Given the description of an element on the screen output the (x, y) to click on. 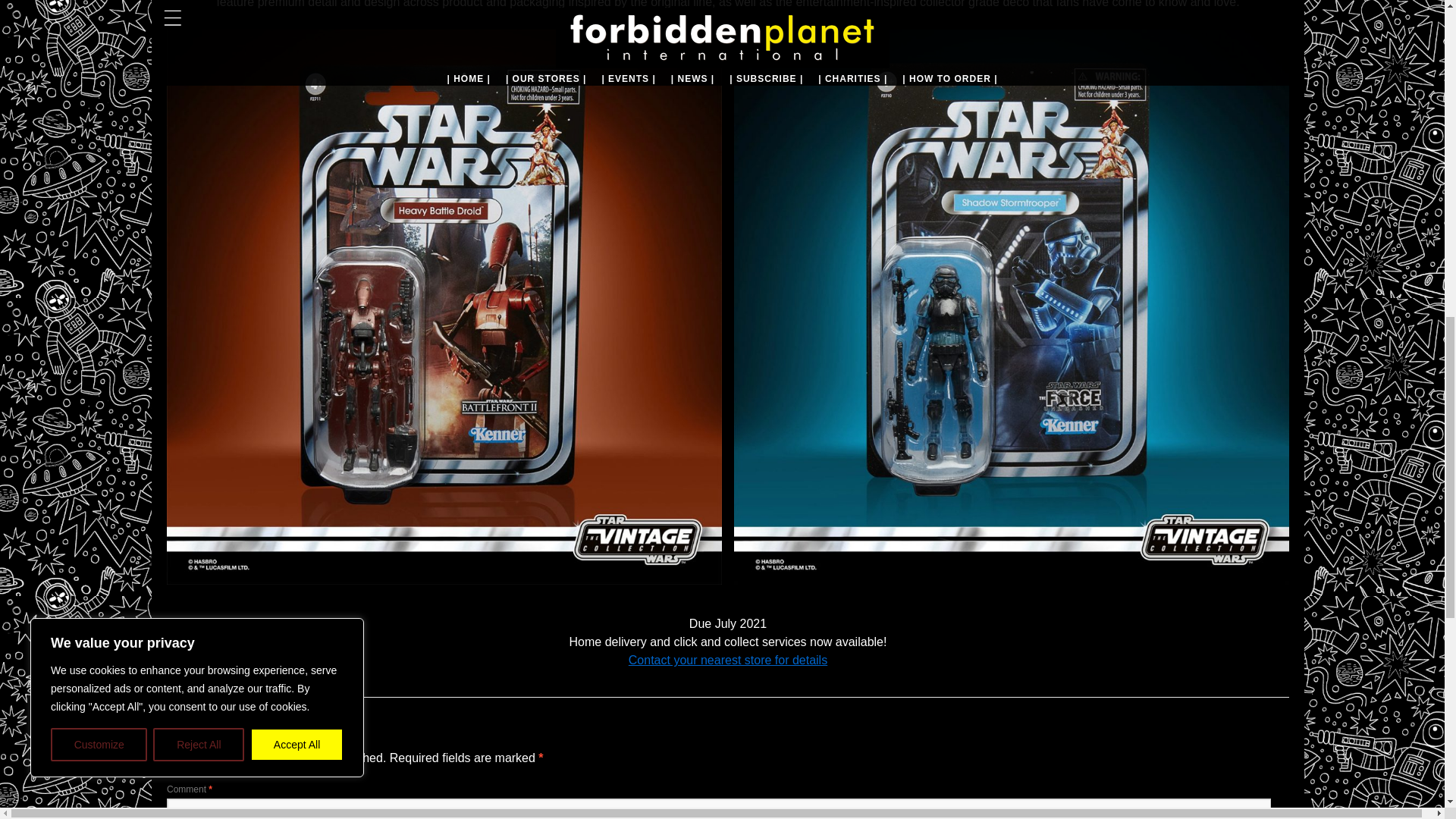
Contact your nearest store for details (727, 659)
